Given the description of an element on the screen output the (x, y) to click on. 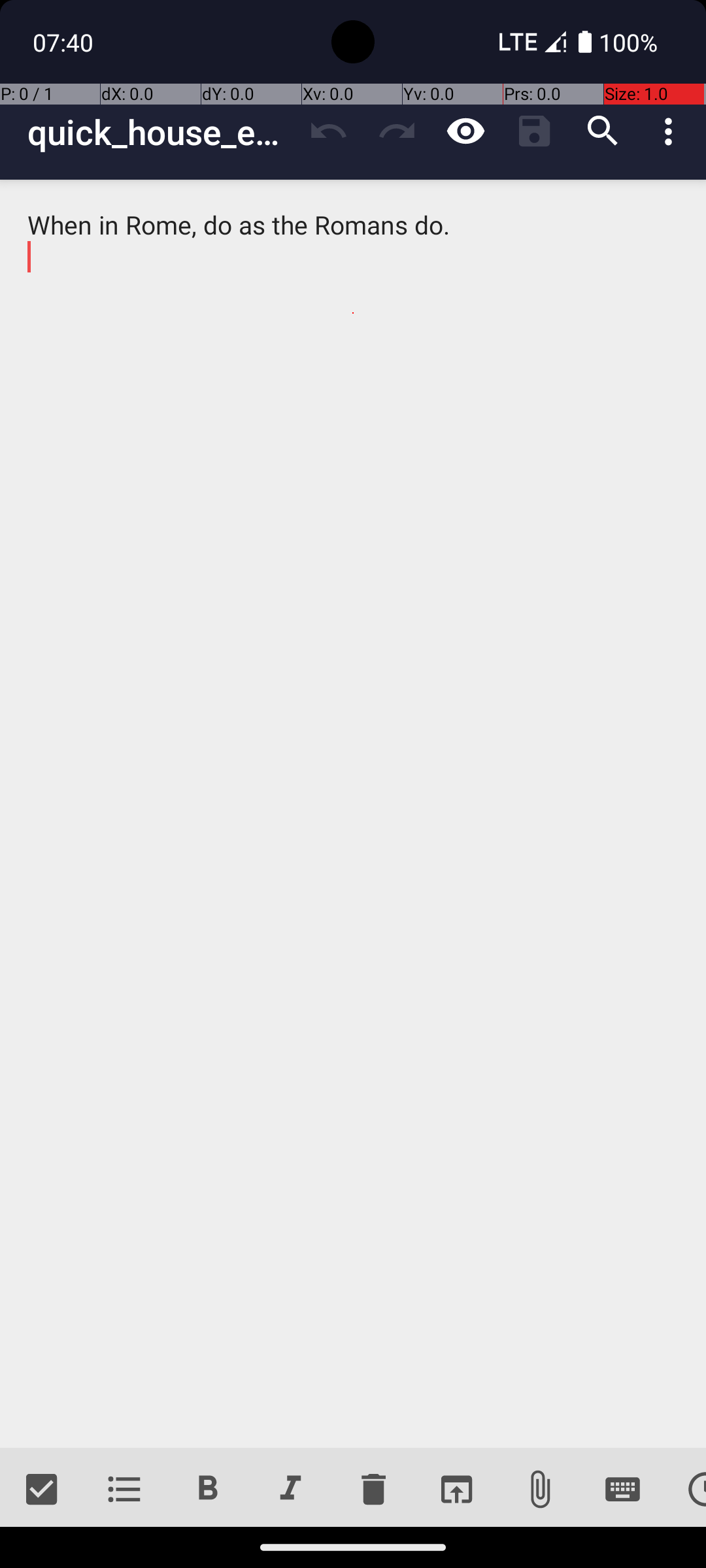
quick_house_edited Element type: android.widget.TextView (160, 131)
When in Rome, do as the Romans do.
 Element type: android.widget.EditText (353, 813)
07:40 Element type: android.widget.TextView (64, 41)
